Given the description of an element on the screen output the (x, y) to click on. 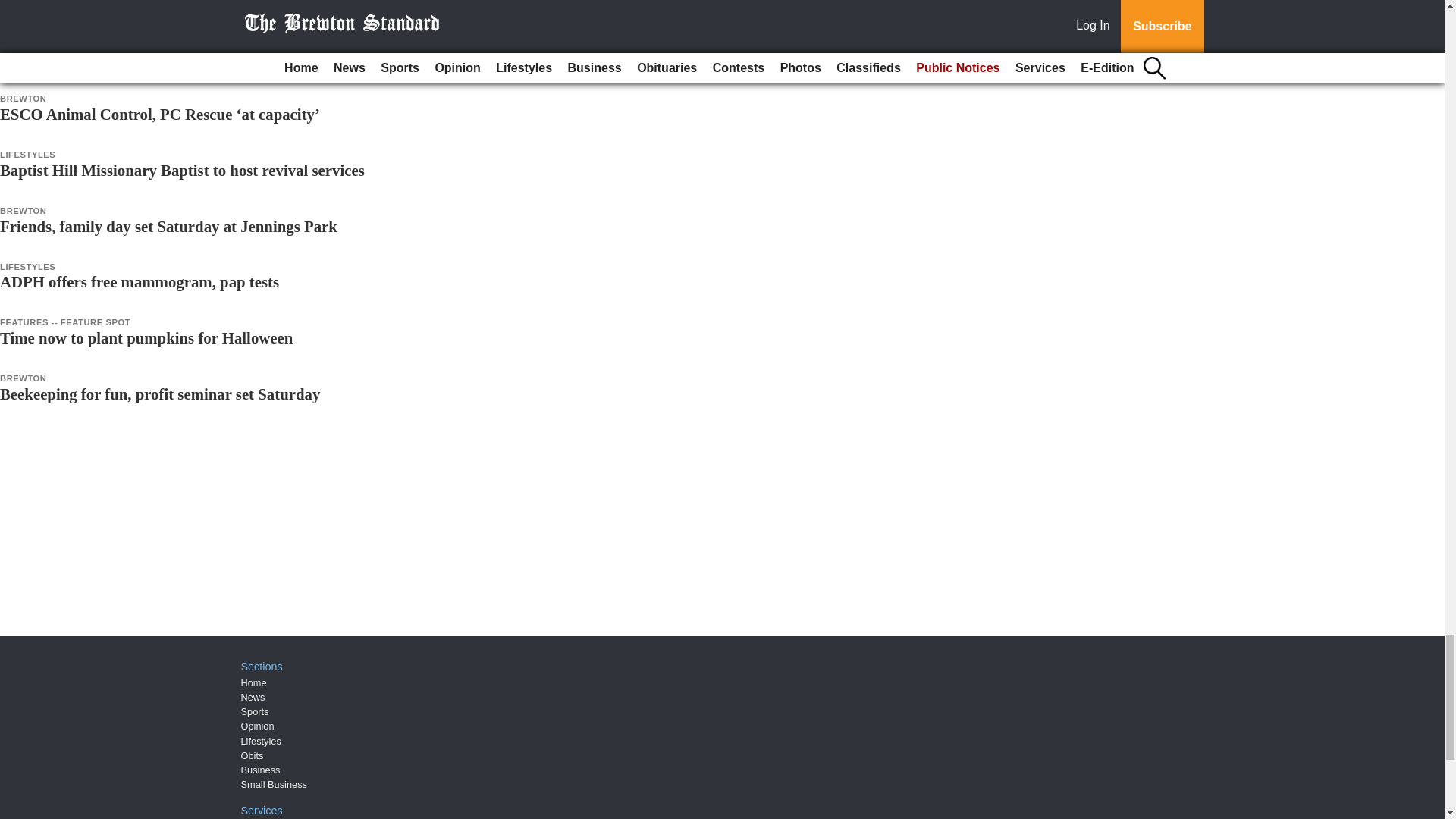
COC Golf Tourney slated Aug. 15 (113, 5)
